Given the description of an element on the screen output the (x, y) to click on. 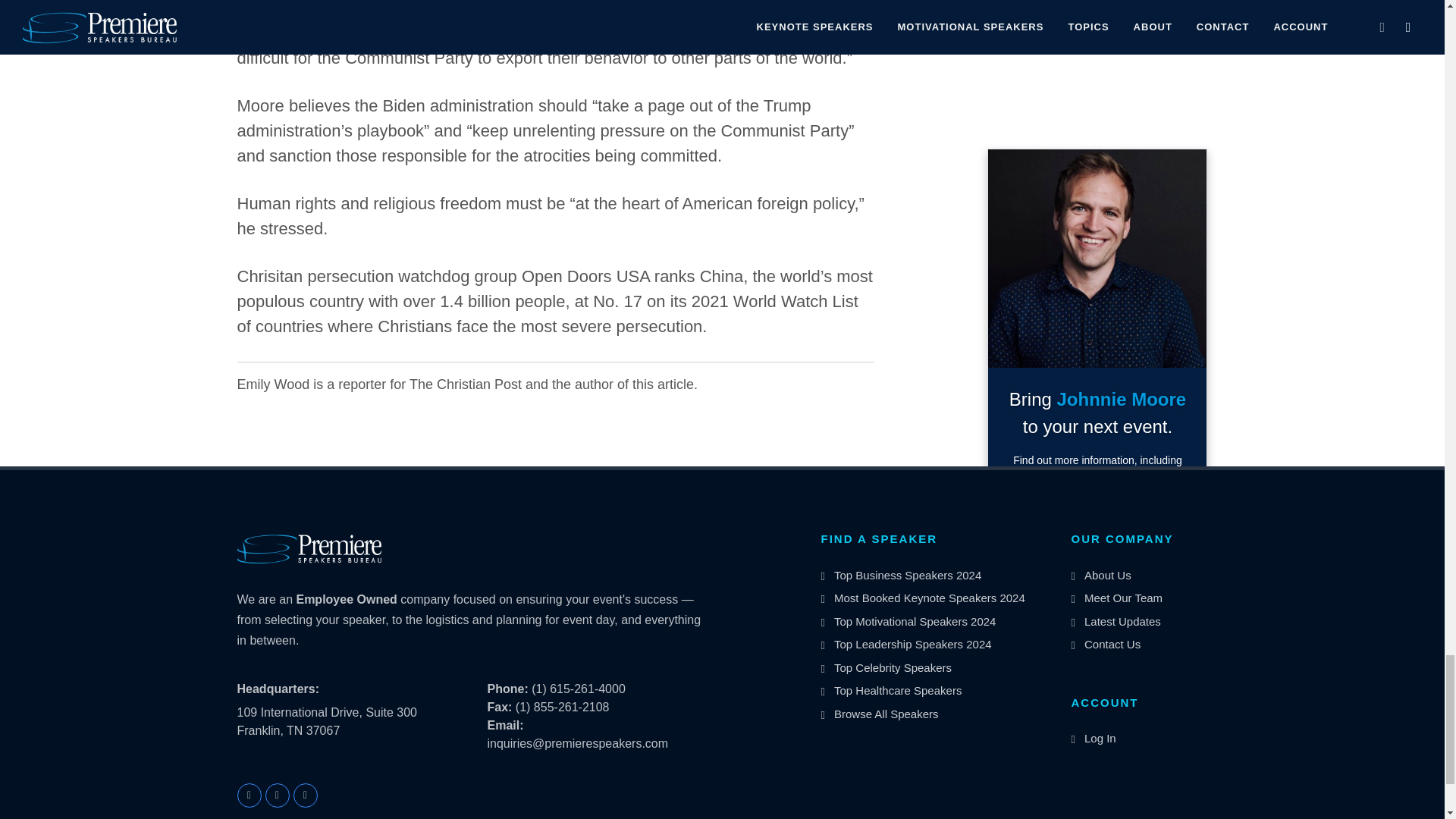
Fax (499, 707)
Phone Number (506, 688)
Headquarters (276, 689)
Email Address (504, 725)
